Given the description of an element on the screen output the (x, y) to click on. 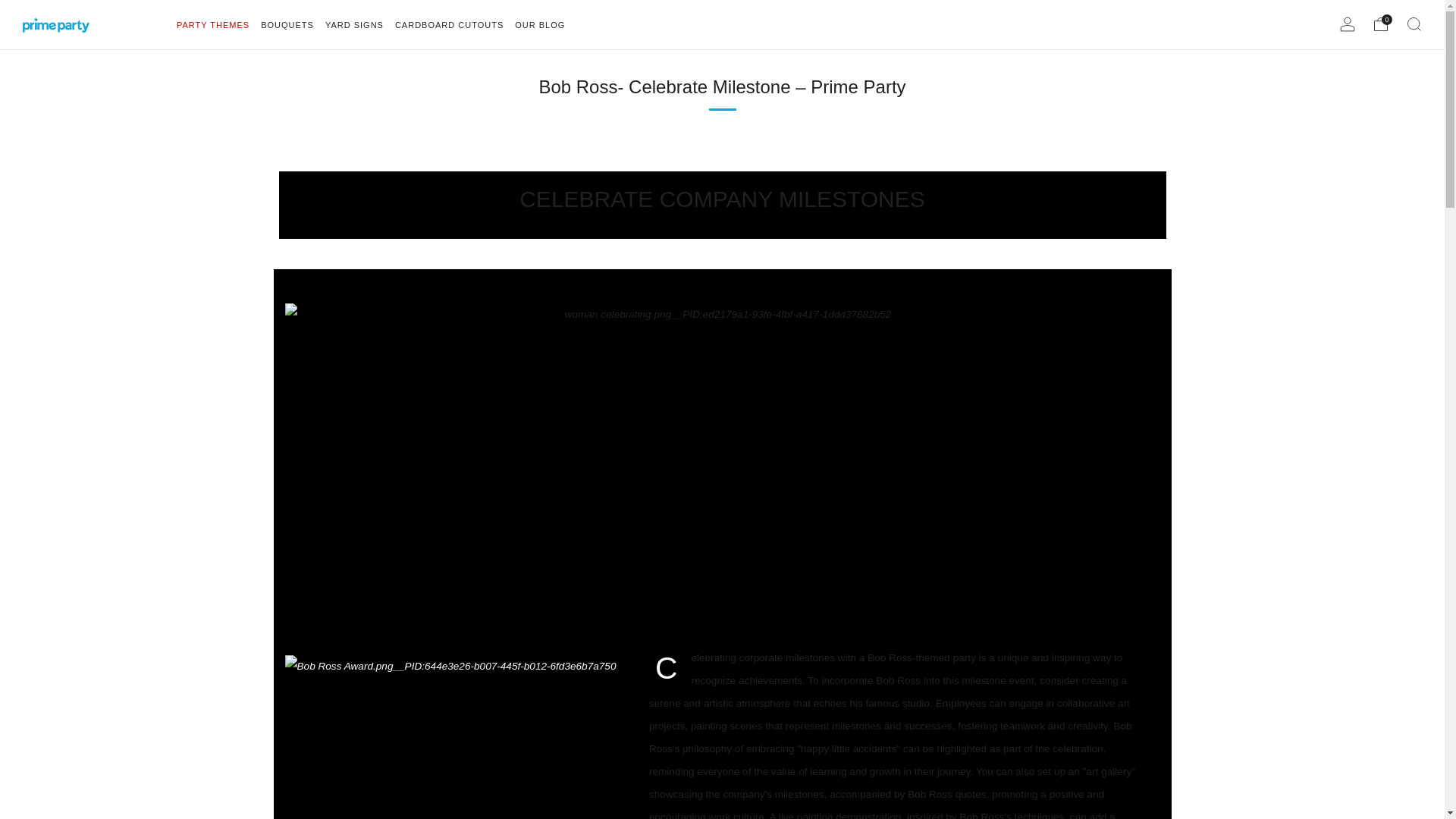
PARTY THEMES (212, 24)
YARD SIGNS (354, 24)
BOUQUETS (287, 24)
